Given the description of an element on the screen output the (x, y) to click on. 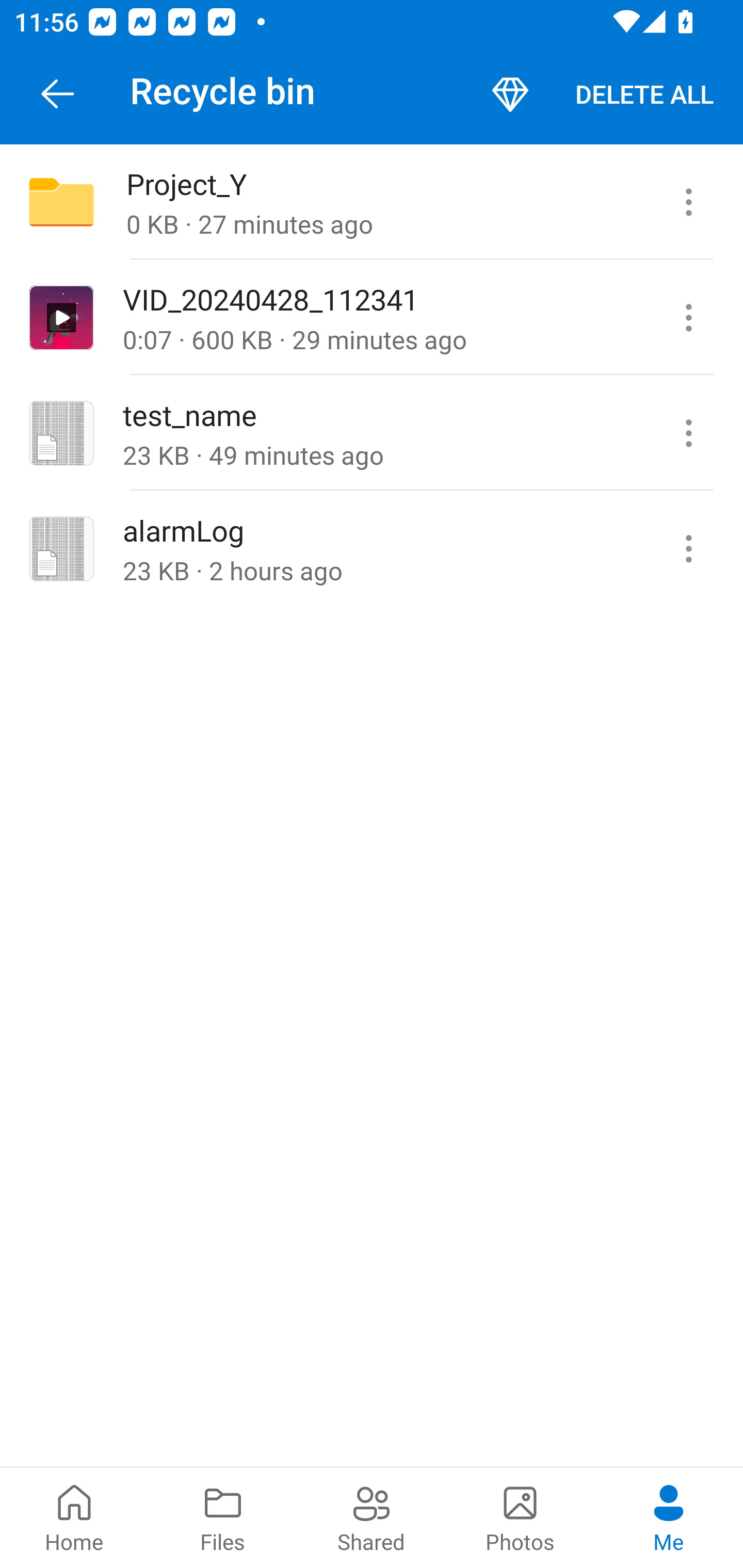
Navigate Up (57, 93)
Premium button (509, 93)
DELETE ALL Delete all button (644, 93)
Project_Y commands (688, 202)
VID_20240428_112341 commands (688, 317)
test_name commands (688, 432)
alarmLog commands (688, 548)
Home pivot Home (74, 1517)
Files pivot Files (222, 1517)
Shared pivot Shared (371, 1517)
Photos pivot Photos (519, 1517)
